Given the description of an element on the screen output the (x, y) to click on. 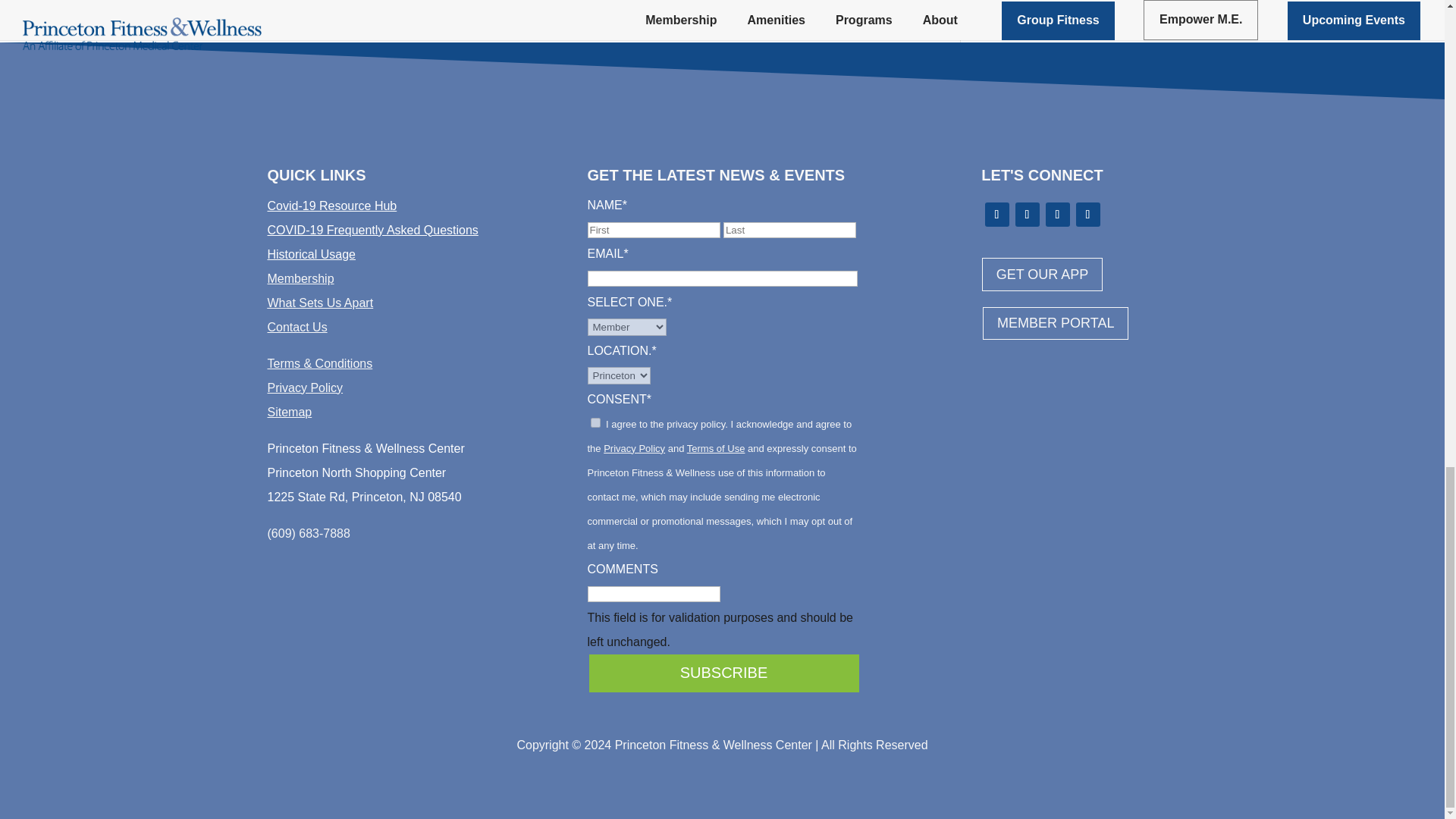
Follow on Facebook (996, 214)
SUBSCRIBE (723, 673)
Follow on X (1026, 214)
Follow on Instagram (1056, 214)
Follow on Youtube (1087, 214)
1 (594, 422)
